Given the description of an element on the screen output the (x, y) to click on. 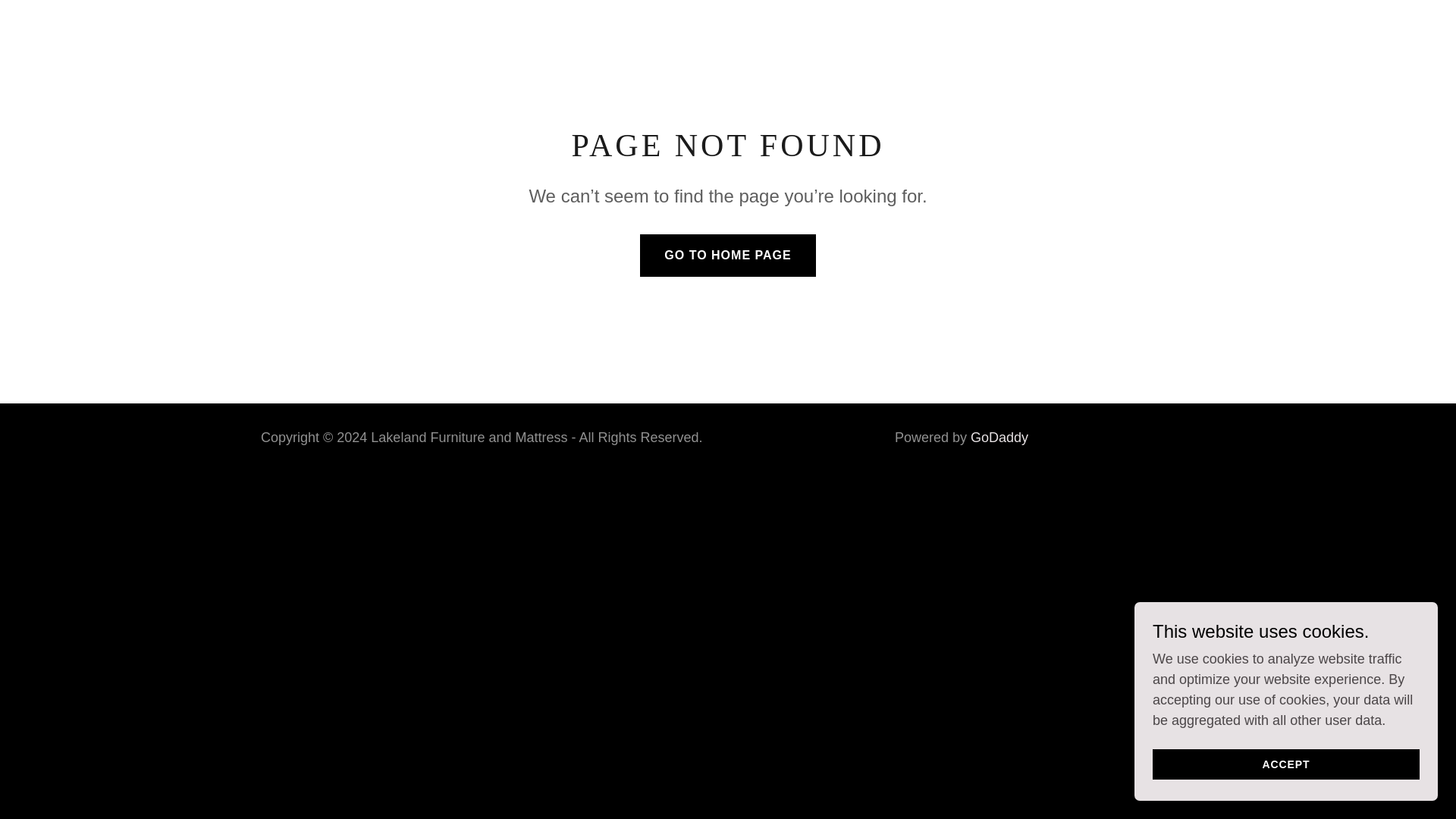
GO TO HOME PAGE (727, 255)
ACCEPT (1286, 764)
GoDaddy (999, 437)
